Given the description of an element on the screen output the (x, y) to click on. 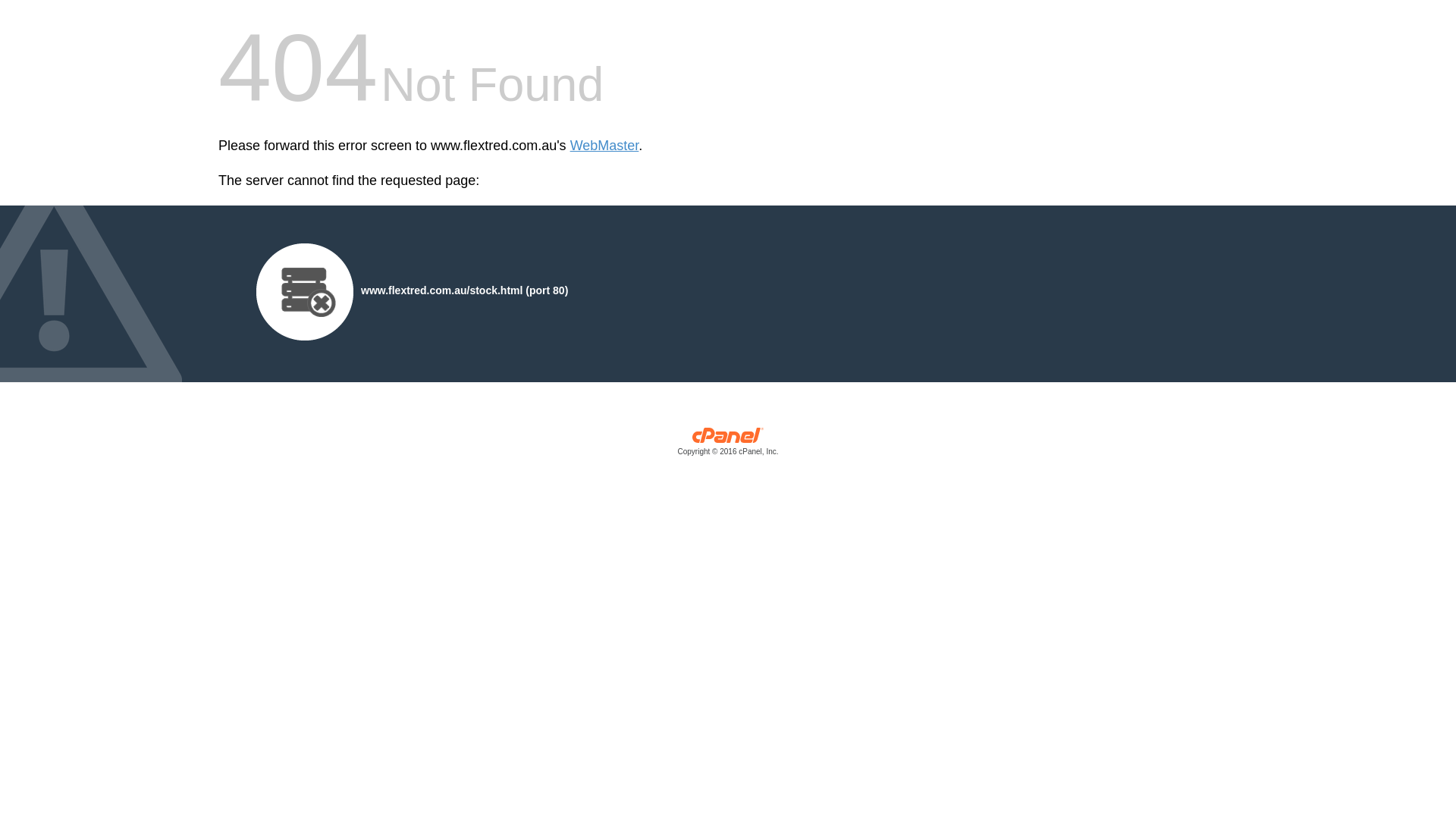
WebMaster Element type: text (604, 145)
